Given the description of an element on the screen output the (x, y) to click on. 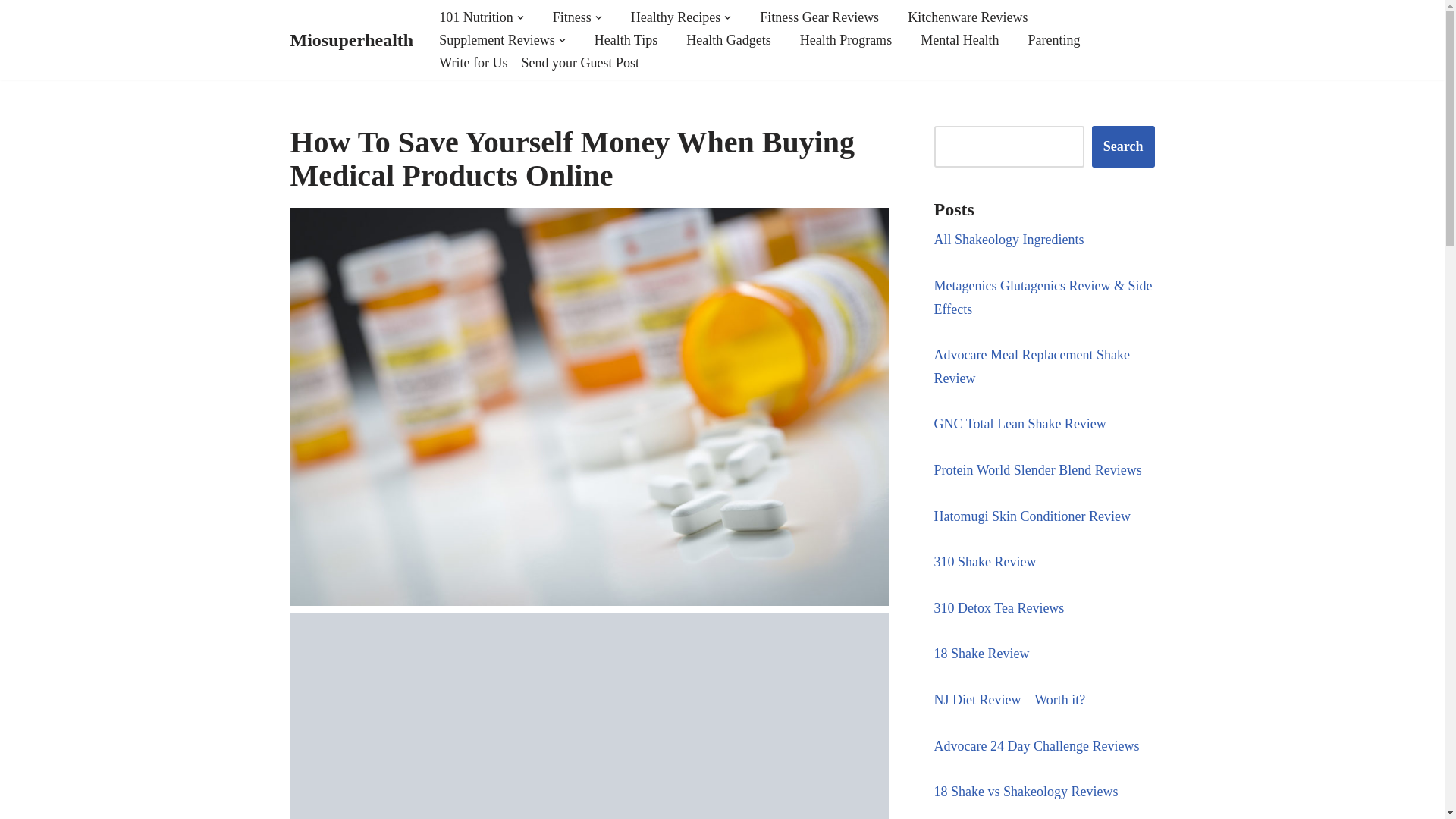
Healthy Recipes (675, 16)
Mental Health (959, 39)
101 Nutrition (476, 16)
Fitness Gear Reviews (819, 16)
Health Gadgets (727, 39)
Supplement Reviews (496, 39)
Fitness (572, 16)
Kitchenware Reviews (967, 16)
Skip to content (11, 31)
Health Programs (845, 39)
